Given the description of an element on the screen output the (x, y) to click on. 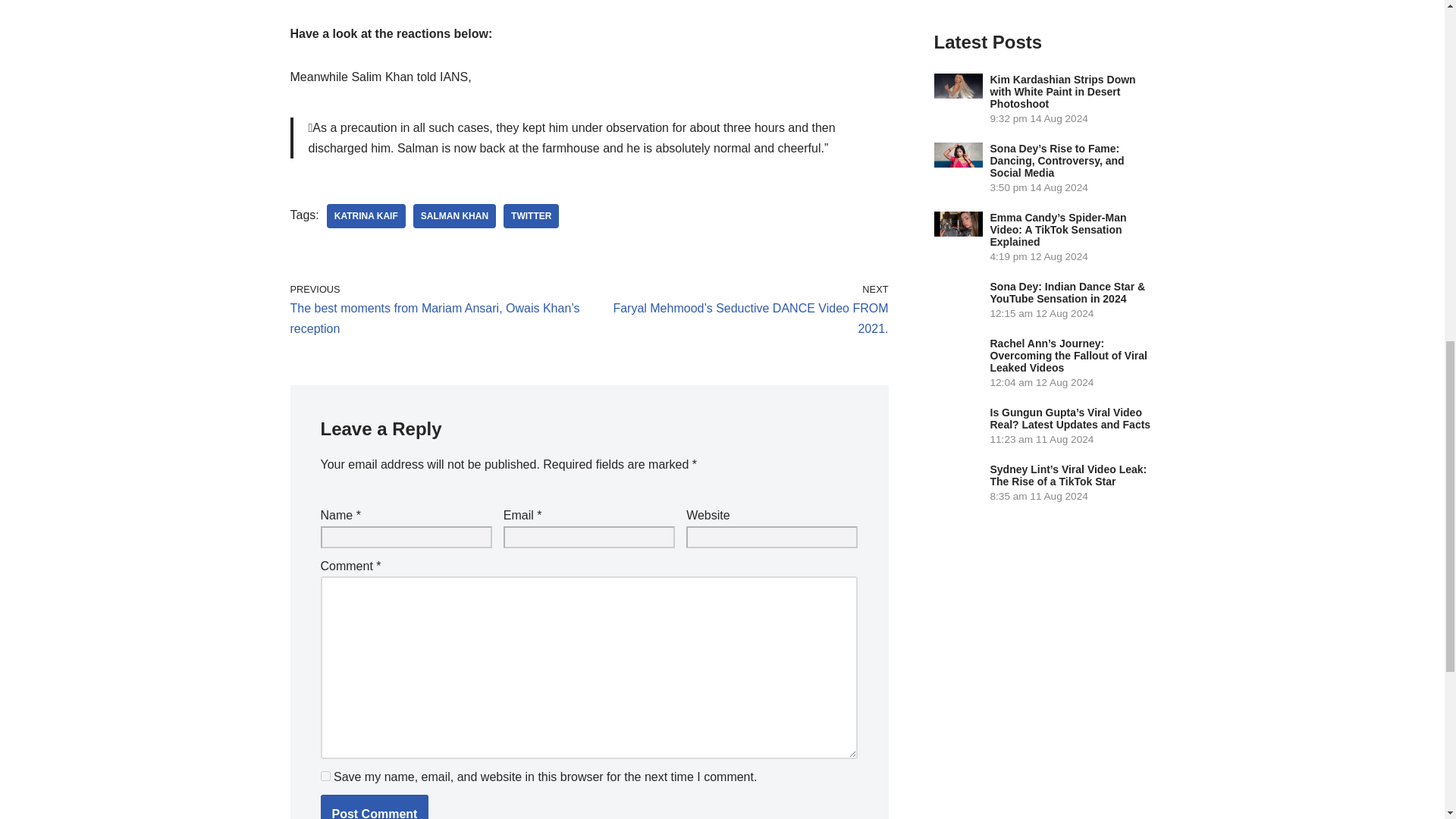
Katrina Kaif (366, 215)
Twitter (531, 215)
Salman Khan (454, 215)
Post Comment (374, 806)
yes (325, 776)
